Given the description of an element on the screen output the (x, y) to click on. 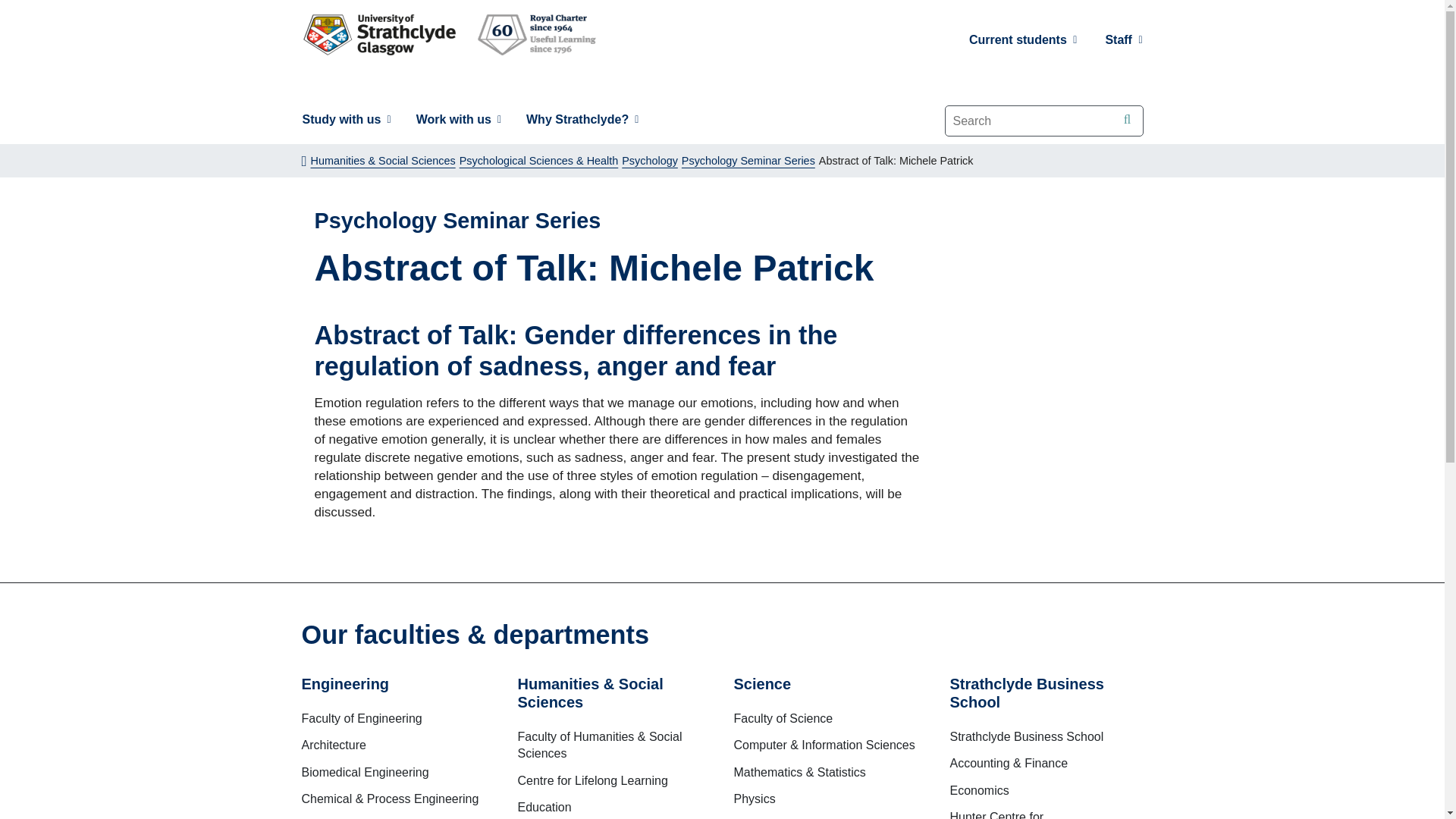
Why Strathclyde? (582, 119)
Work with us (457, 119)
Study with us (346, 119)
Current students (1024, 39)
